Given the description of an element on the screen output the (x, y) to click on. 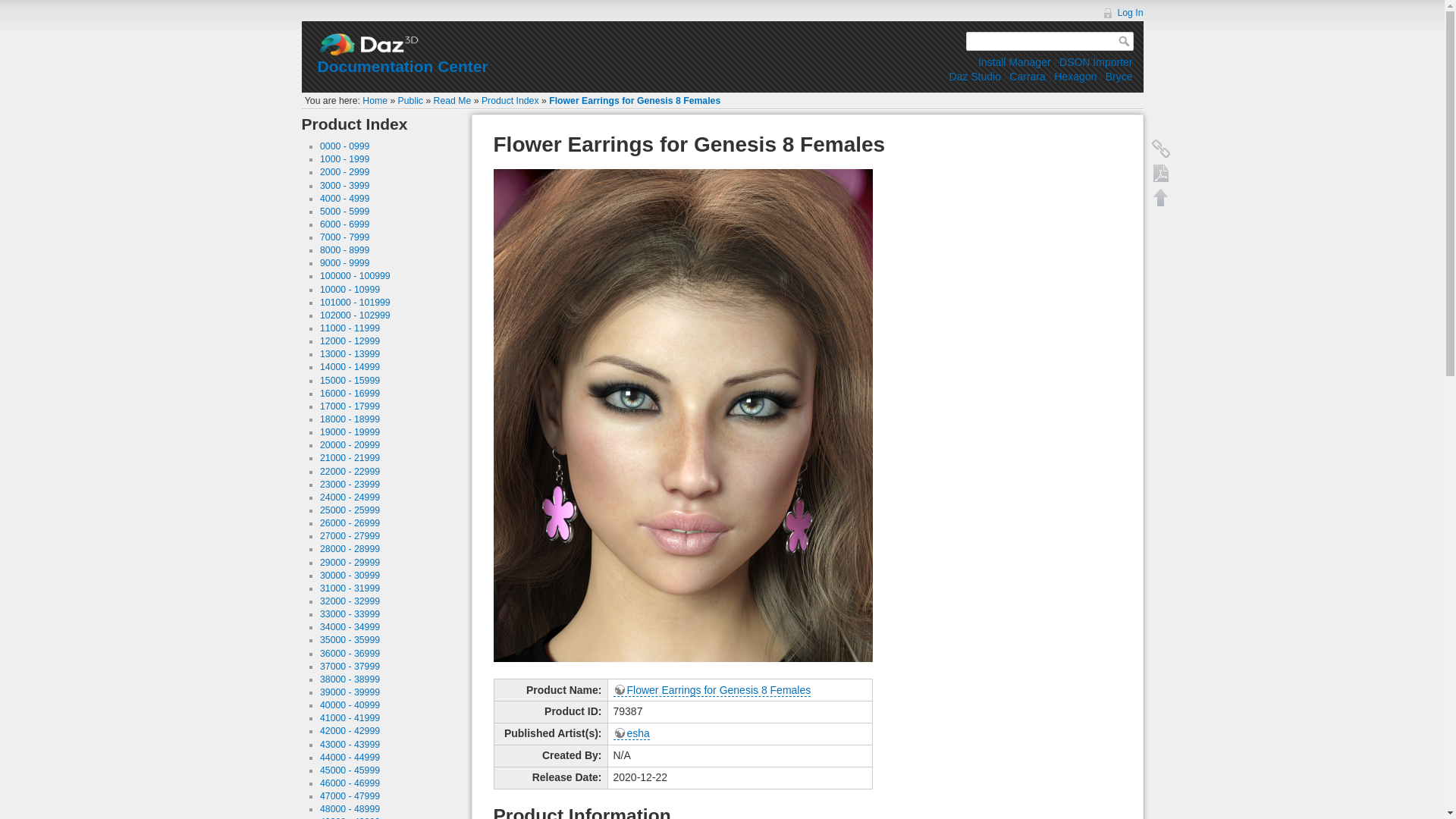
Read Me (452, 100)
11000 - 11999 (350, 327)
Product Index (509, 100)
102000 - 102999 (355, 315)
Documentation Center (402, 66)
public:software:dazstudio:start (974, 76)
Log In (1122, 12)
public:software:hexagon:start (1075, 76)
1000 - 1999 (344, 158)
Install Manager (1014, 61)
Log In (1122, 12)
17000 - 17999 (350, 406)
101000 - 101999 (355, 302)
Bryce (1118, 76)
Hexagon (1075, 76)
